Given the description of an element on the screen output the (x, y) to click on. 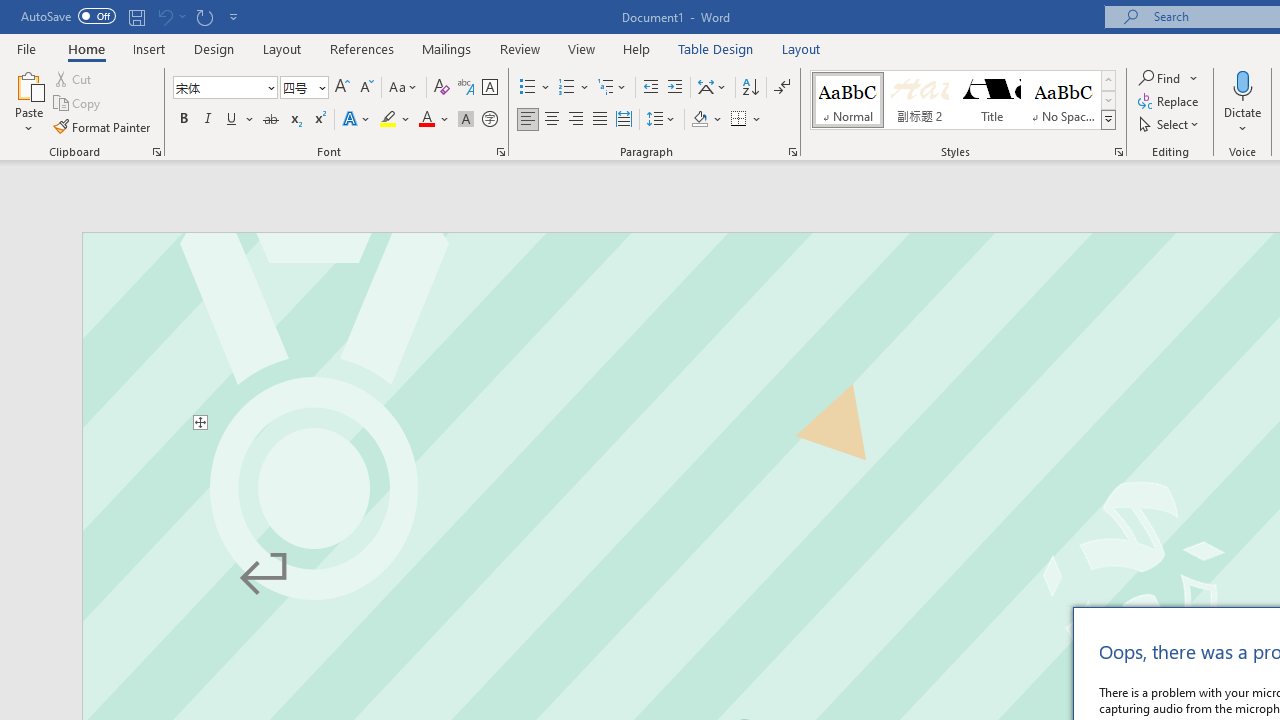
Repeat Start Office Dictation (204, 15)
Font Color Red (426, 119)
